Given the description of an element on the screen output the (x, y) to click on. 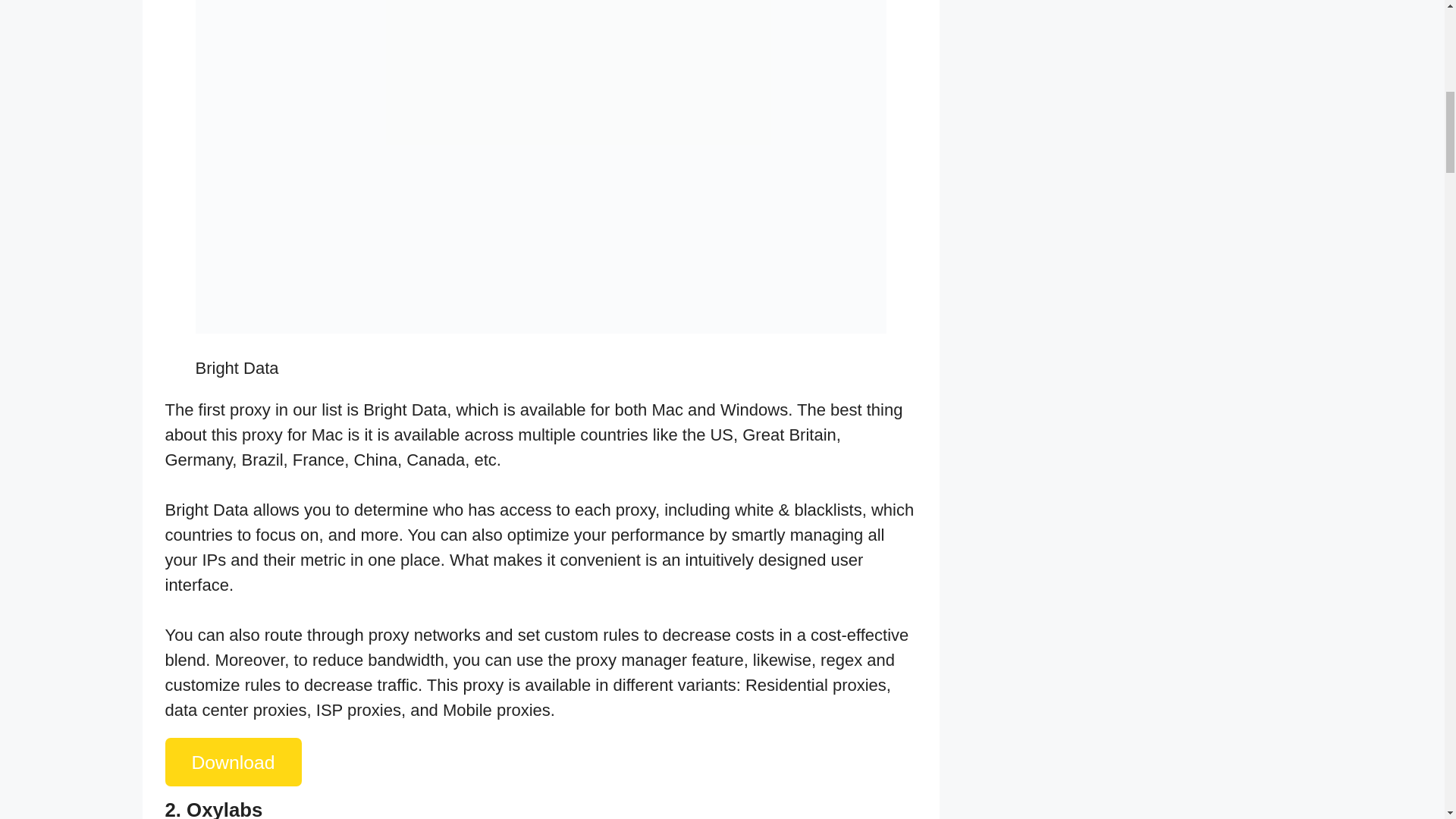
Download (233, 761)
